Given the description of an element on the screen output the (x, y) to click on. 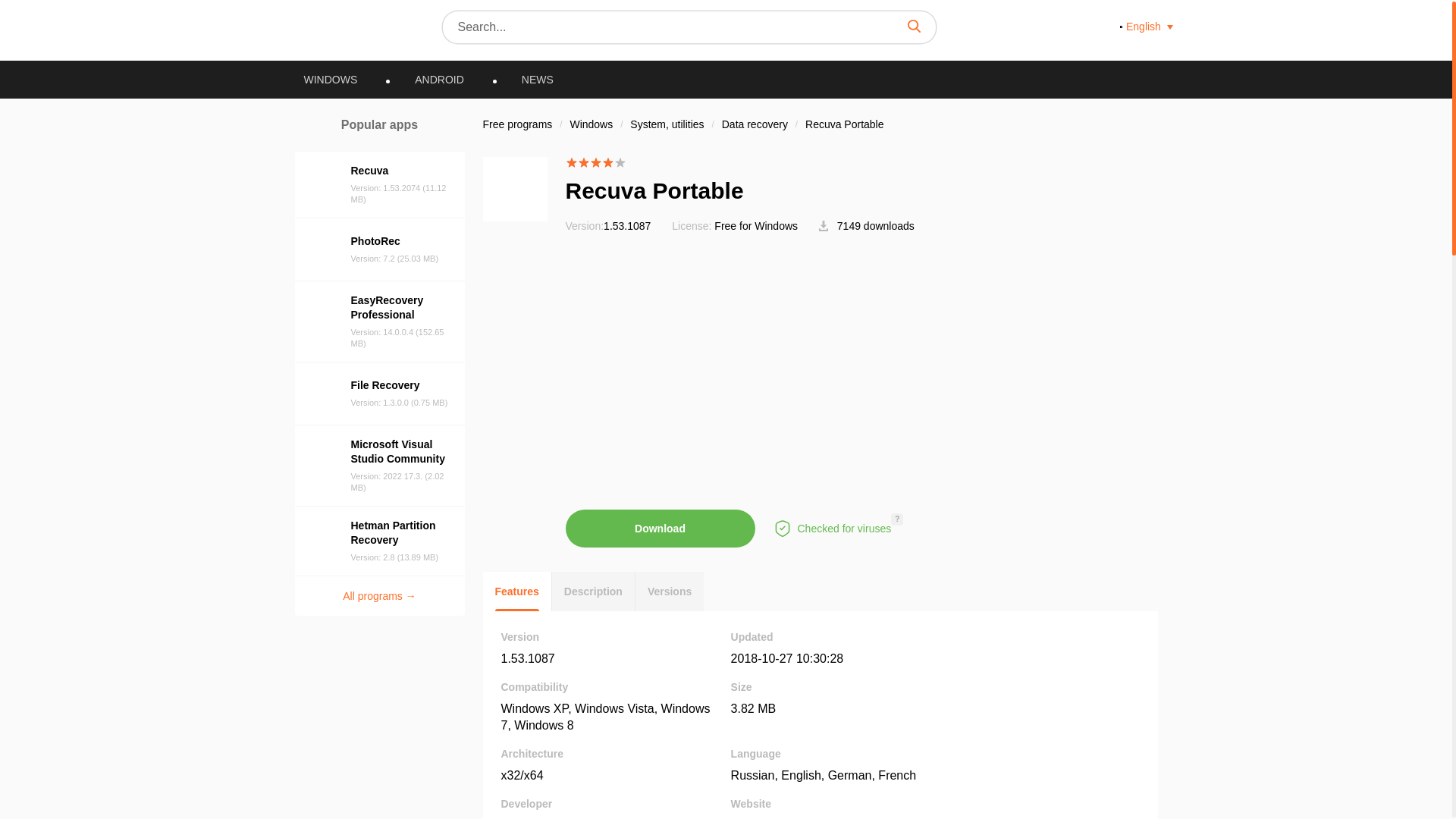
System, utilities (668, 123)
NEWS (537, 79)
Recuva Portable (844, 123)
Free programs (516, 123)
Free for Windows (755, 225)
Version:1.53.1087 (608, 225)
Windows (592, 123)
Updated (787, 658)
ANDROID (438, 79)
WINDOWS (330, 79)
